Given the description of an element on the screen output the (x, y) to click on. 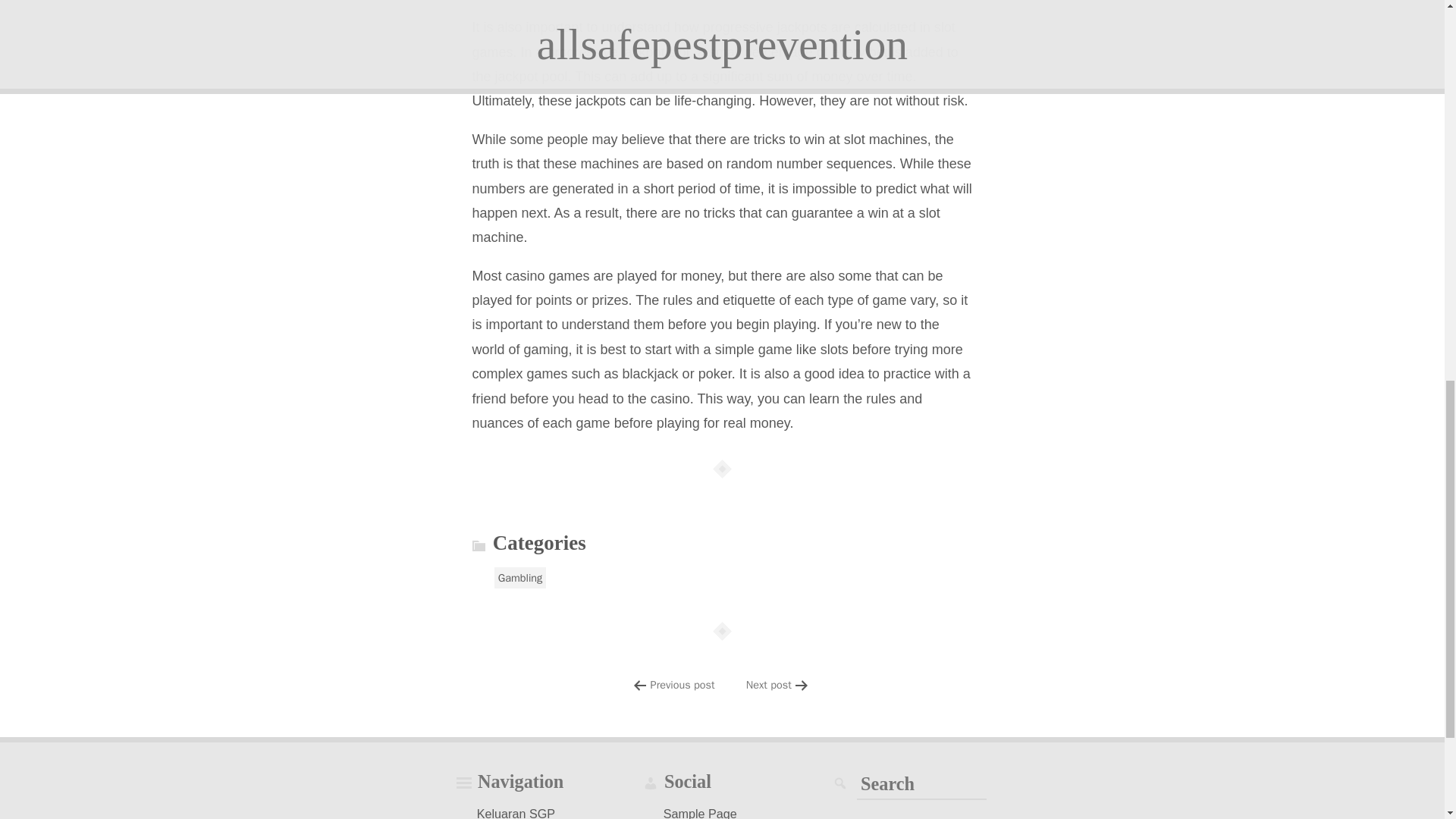
Gambling (521, 577)
Next post (768, 684)
Previous post (682, 684)
